Given the description of an element on the screen output the (x, y) to click on. 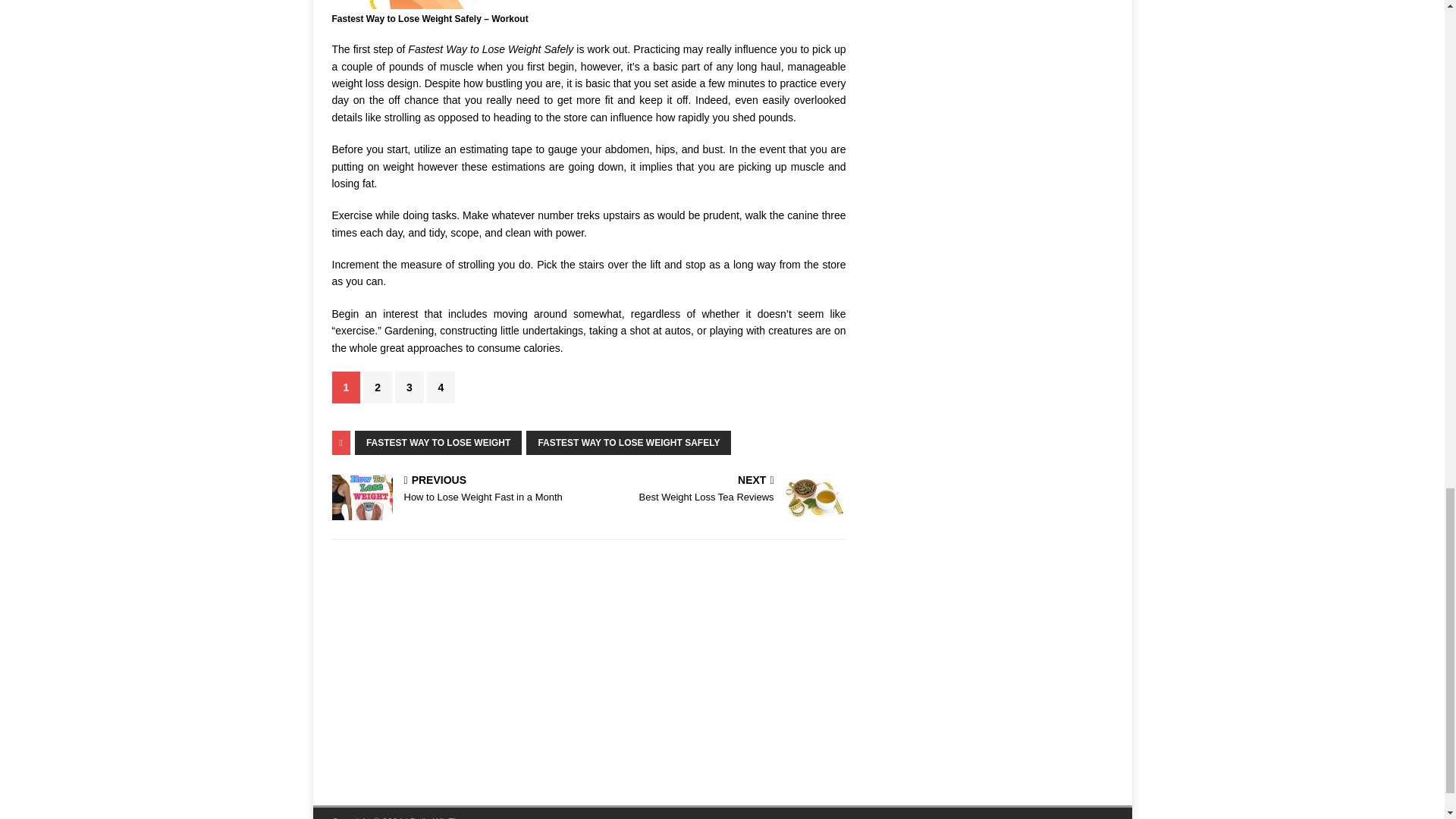
FASTEST WAY TO LOSE WEIGHT (438, 442)
2 (376, 387)
3 (408, 387)
4 (720, 490)
FASTEST WAY TO LOSE WEIGHT SAFELY (440, 387)
